Given the description of an element on the screen output the (x, y) to click on. 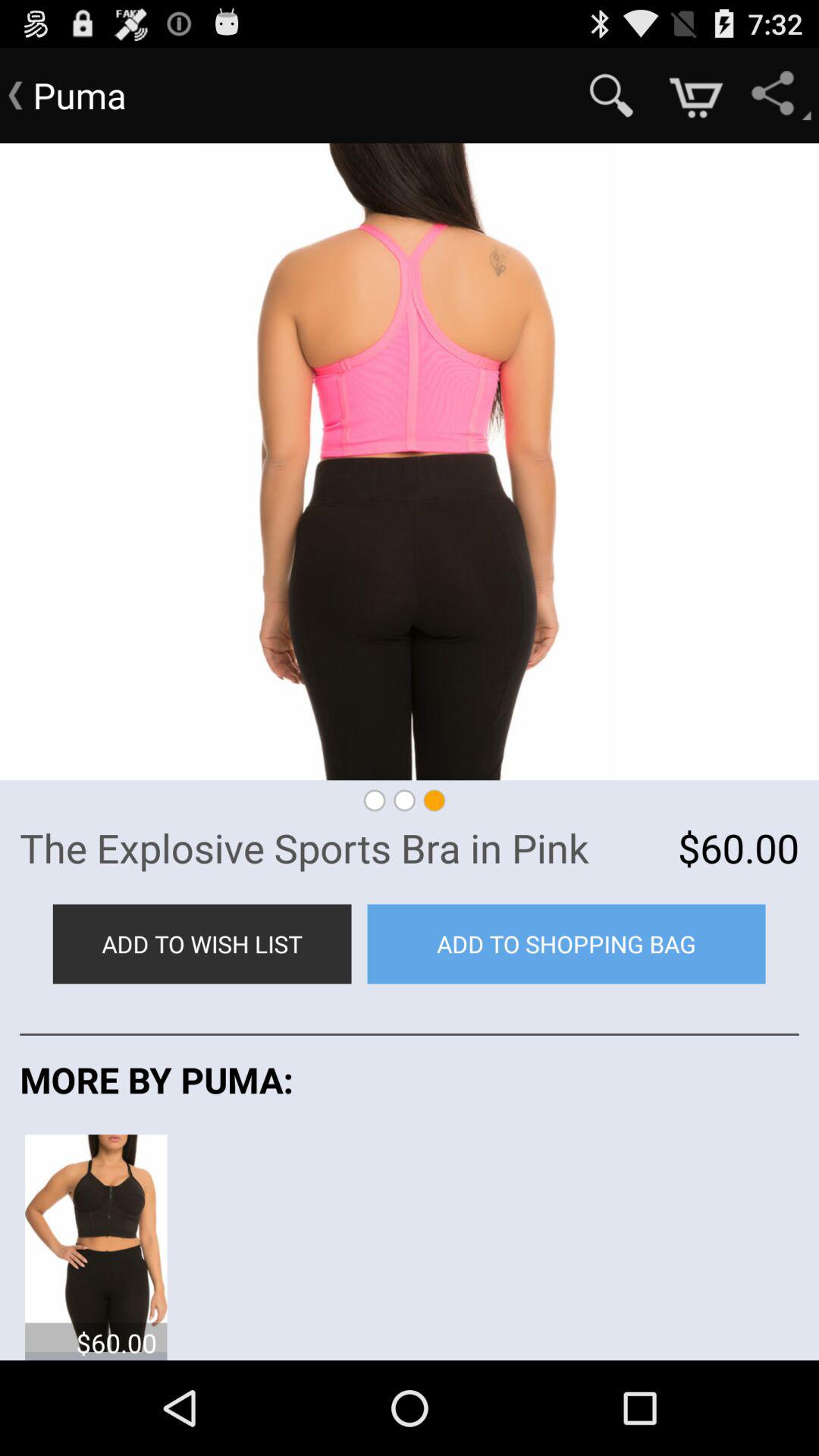
view product (96, 1241)
